Given the description of an element on the screen output the (x, y) to click on. 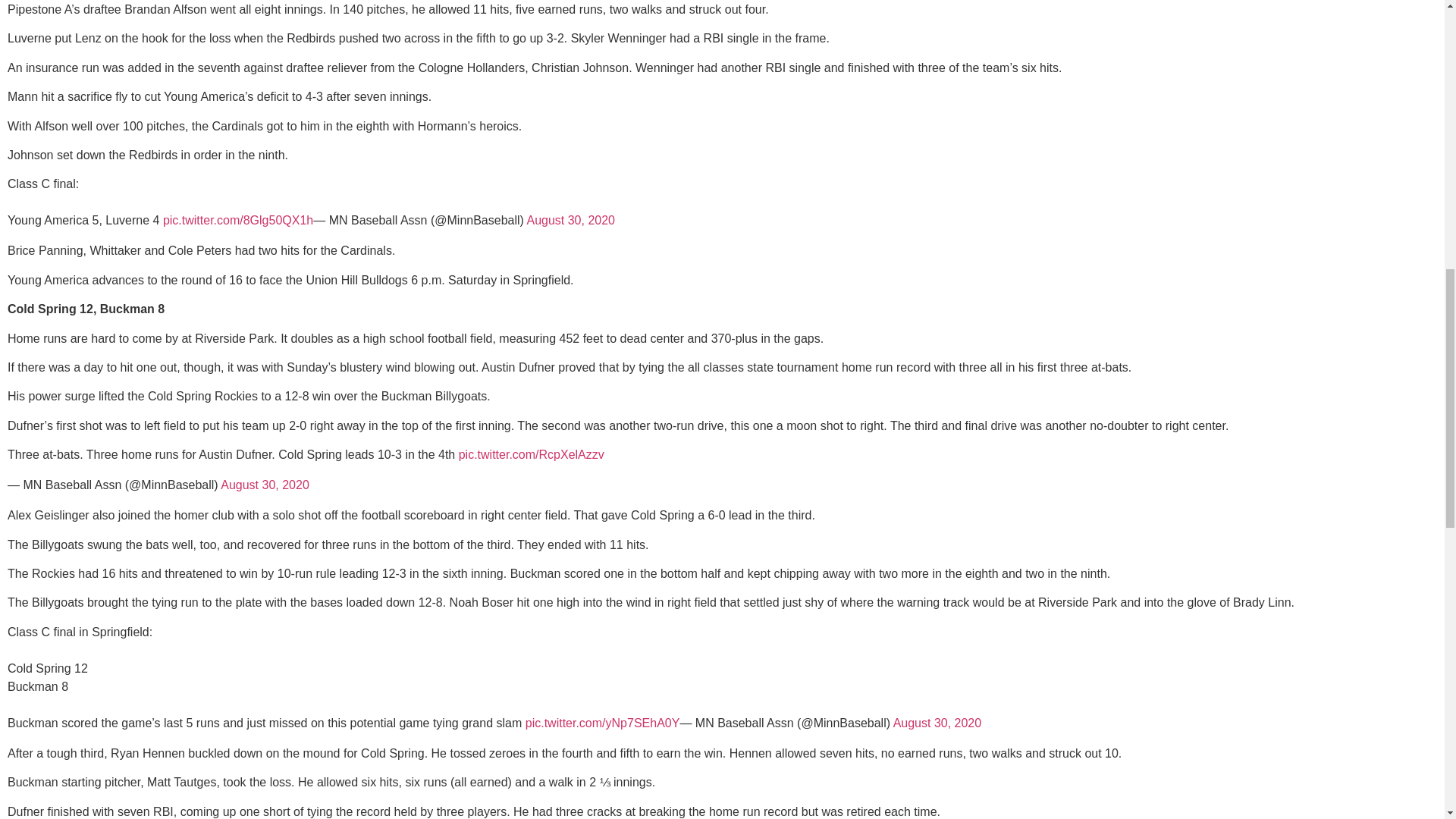
August 30, 2020 (569, 219)
August 30, 2020 (264, 484)
August 30, 2020 (937, 722)
